Given the description of an element on the screen output the (x, y) to click on. 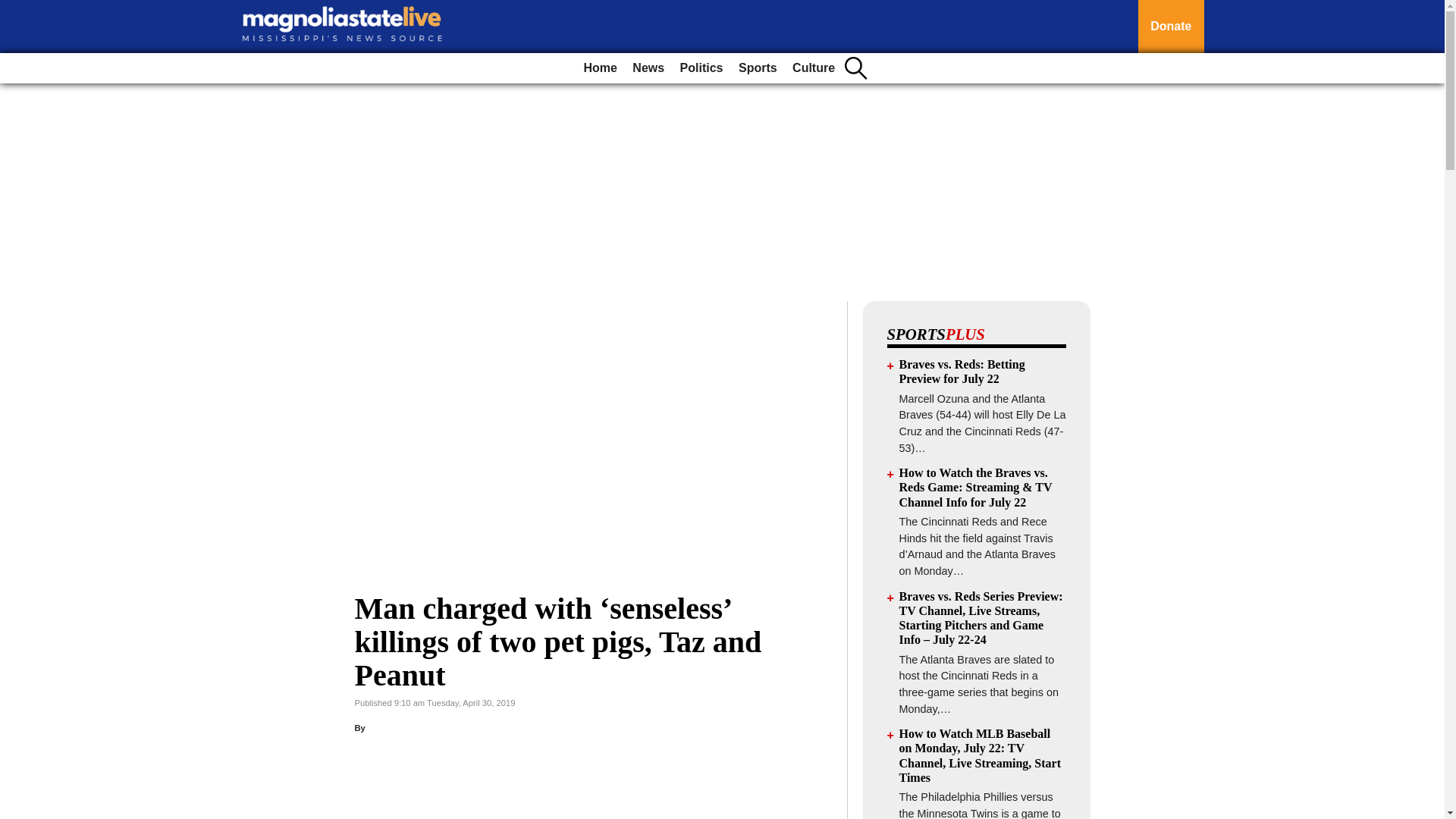
Culture (813, 68)
Home (599, 68)
Politics (701, 68)
Go (13, 9)
Braves vs. Reds: Betting Preview for July 22 (962, 370)
Donate (1171, 26)
News (647, 68)
Sports (757, 68)
